Given the description of an element on the screen output the (x, y) to click on. 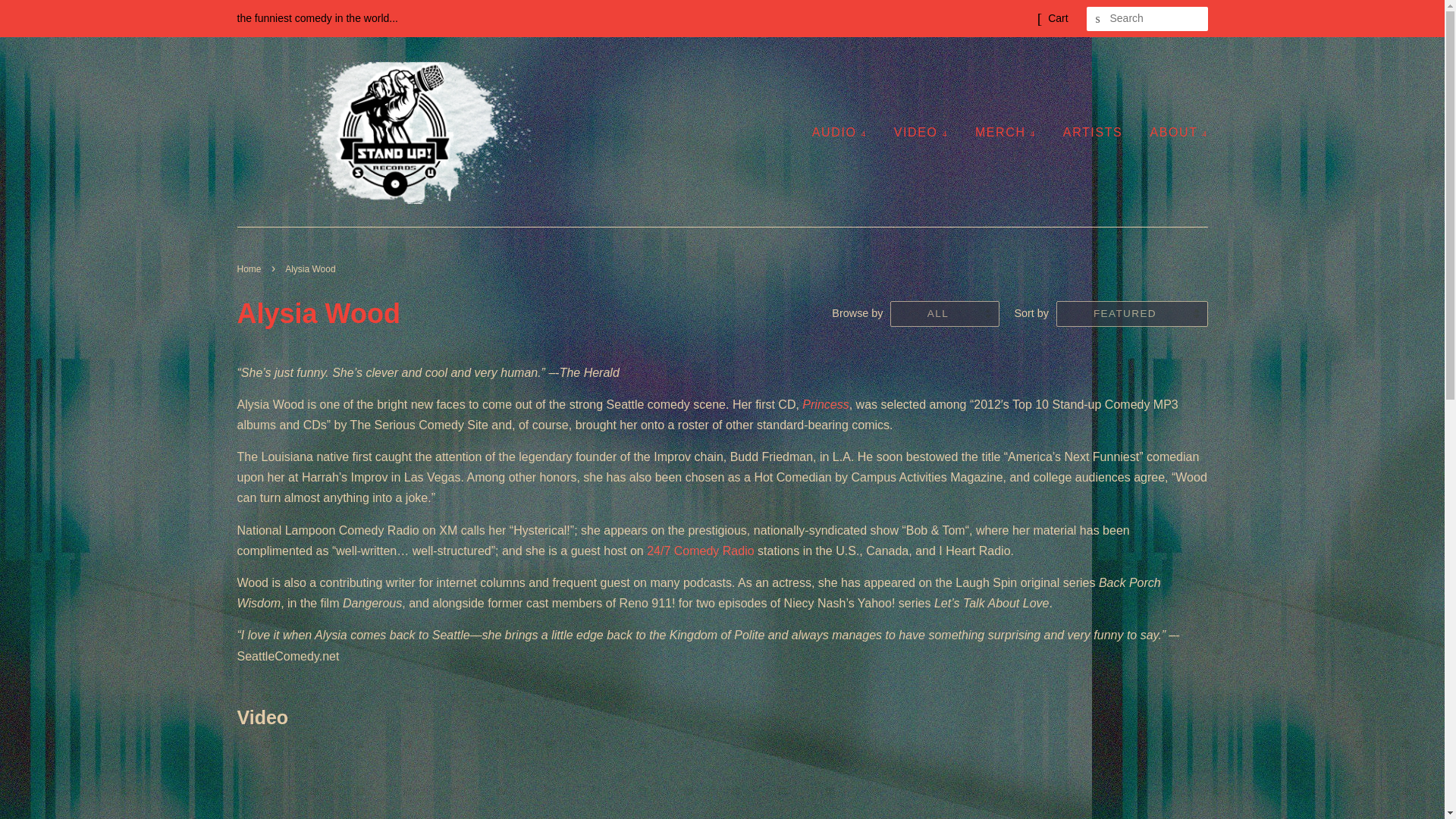
Cart (1057, 18)
MERCH (1004, 131)
VIDEO (920, 131)
Back to the frontpage (249, 268)
AUDIO (844, 131)
SEARCH (1097, 18)
